Given the description of an element on the screen output the (x, y) to click on. 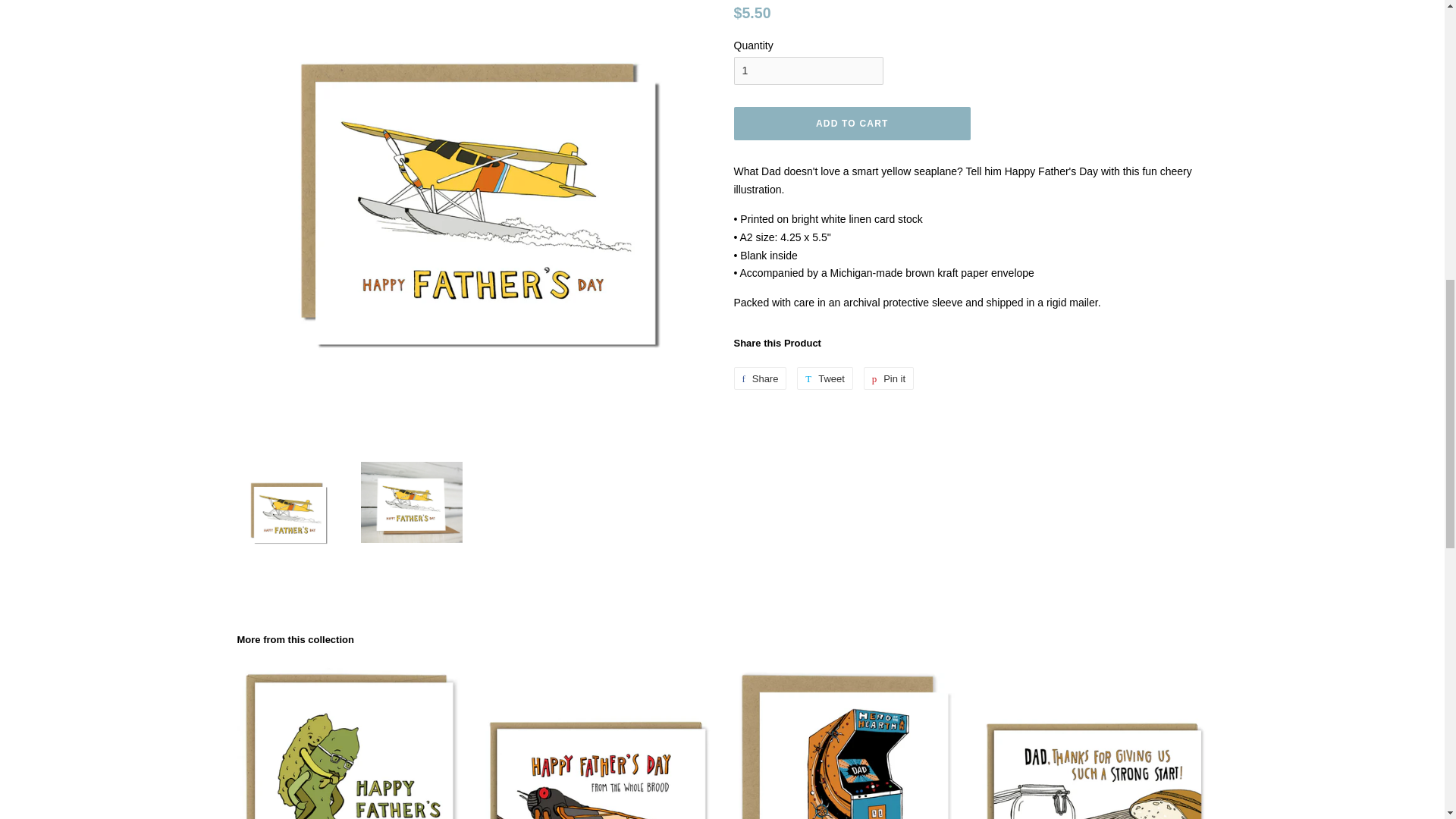
Tweet on Twitter (824, 377)
Pin on Pinterest (888, 377)
1 (808, 70)
Share on Facebook (760, 377)
